Given the description of an element on the screen output the (x, y) to click on. 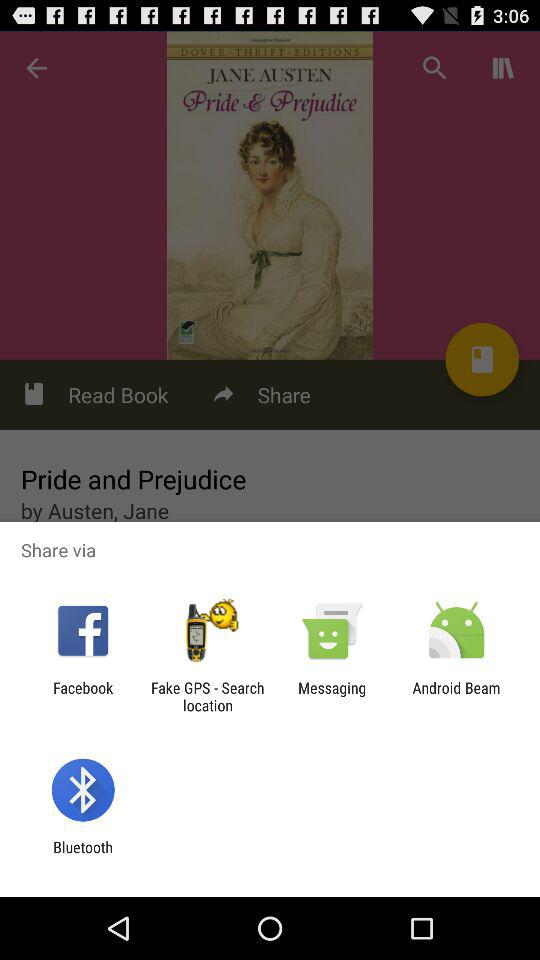
choose app next to messaging app (207, 696)
